Given the description of an element on the screen output the (x, y) to click on. 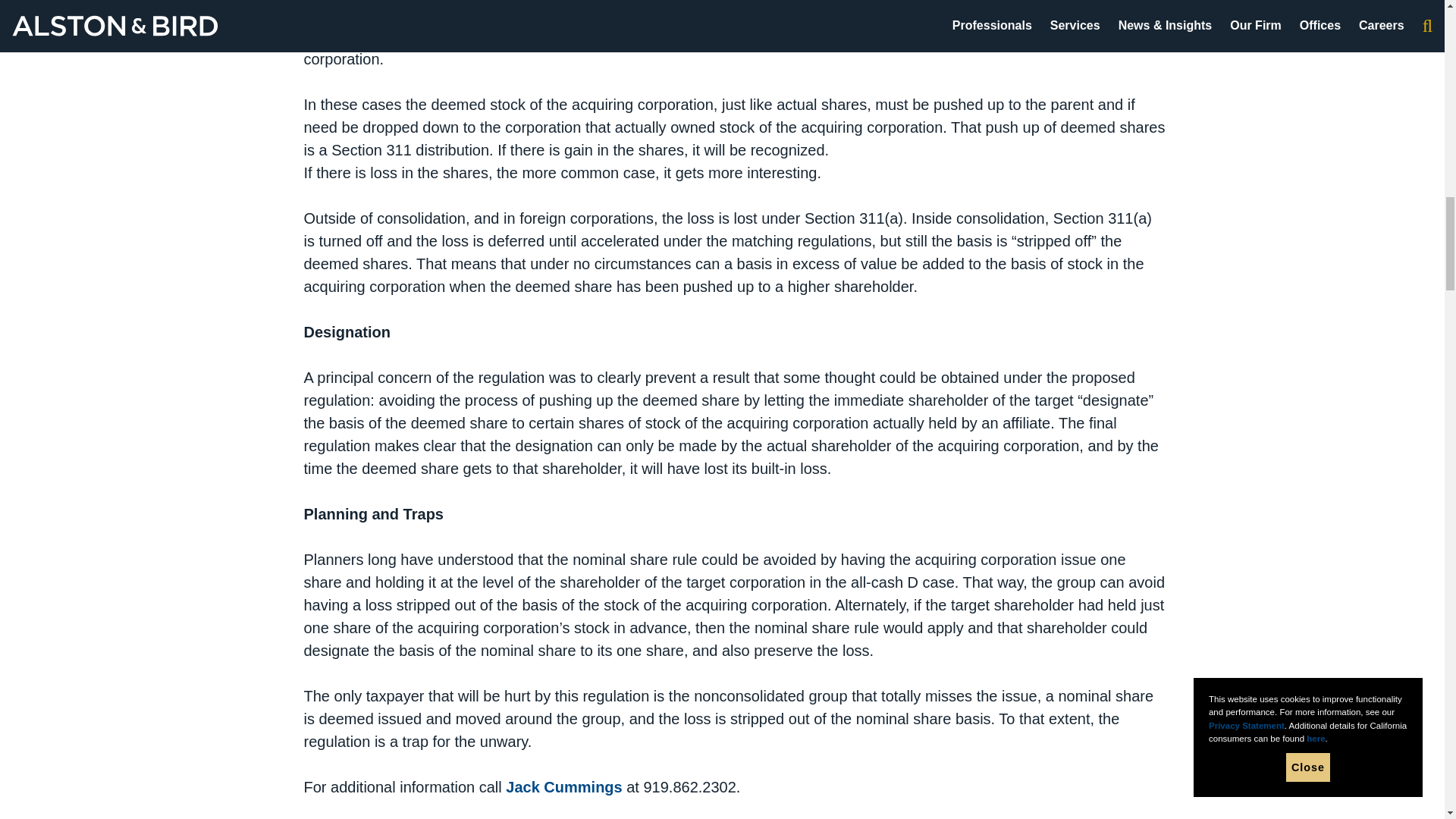
Jack Cummings (563, 786)
